Given the description of an element on the screen output the (x, y) to click on. 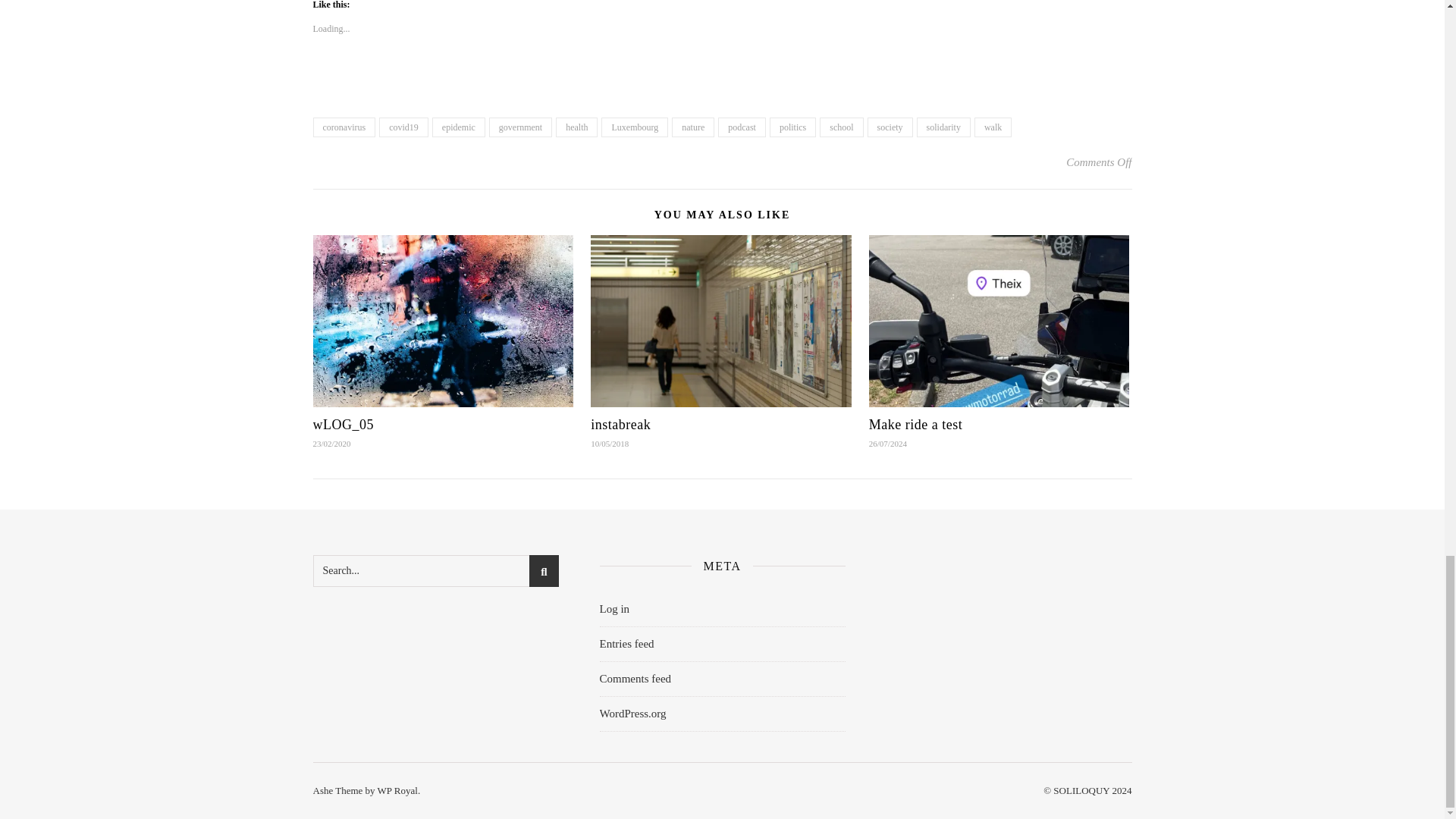
Like or Reblog (722, 81)
